Given the description of an element on the screen output the (x, y) to click on. 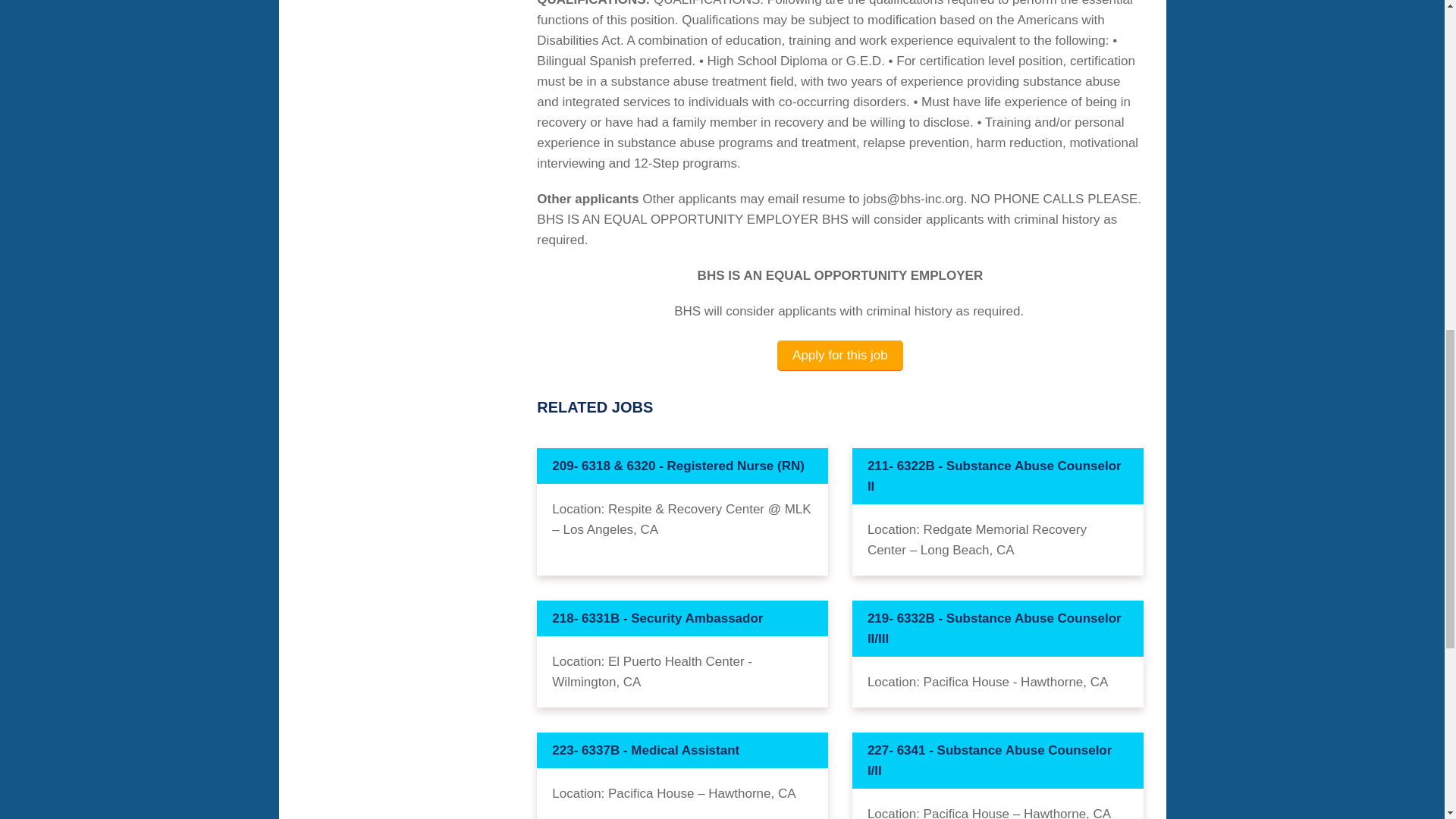
218- 6331B - Security Ambassador (682, 618)
211- 6322B - Substance Abuse Counselor II (996, 475)
Apply for this job (839, 355)
223- 6337B - Medical Assistant (682, 750)
